Given the description of an element on the screen output the (x, y) to click on. 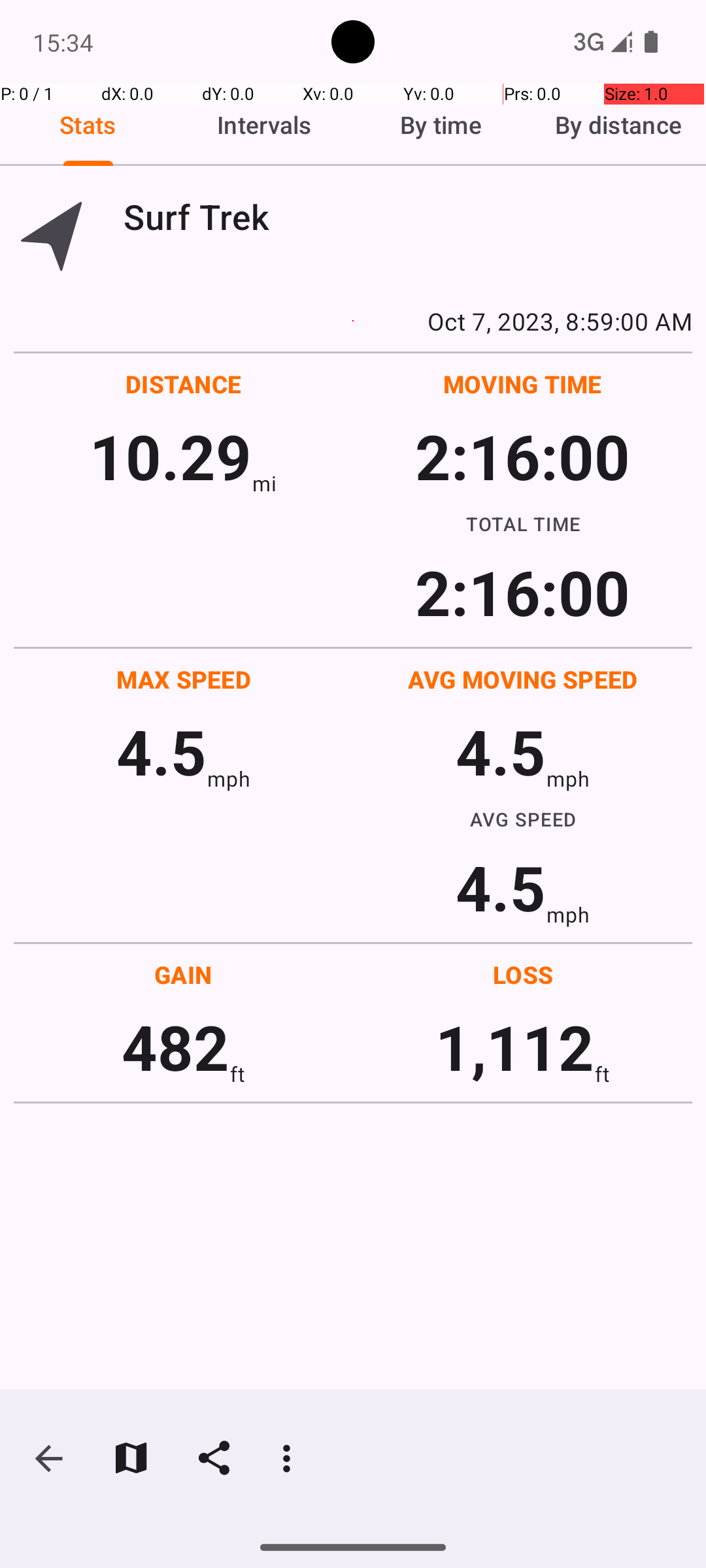
Surf Trek Element type: android.widget.TextView (407, 216)
Oct 7, 2023, 8:59:00 AM Element type: android.widget.TextView (352, 320)
10.29 Element type: android.widget.TextView (170, 455)
2:16:00 Element type: android.widget.TextView (522, 455)
4.5 Element type: android.widget.TextView (161, 750)
482 Element type: android.widget.TextView (175, 1045)
1,112 Element type: android.widget.TextView (514, 1045)
